Given the description of an element on the screen output the (x, y) to click on. 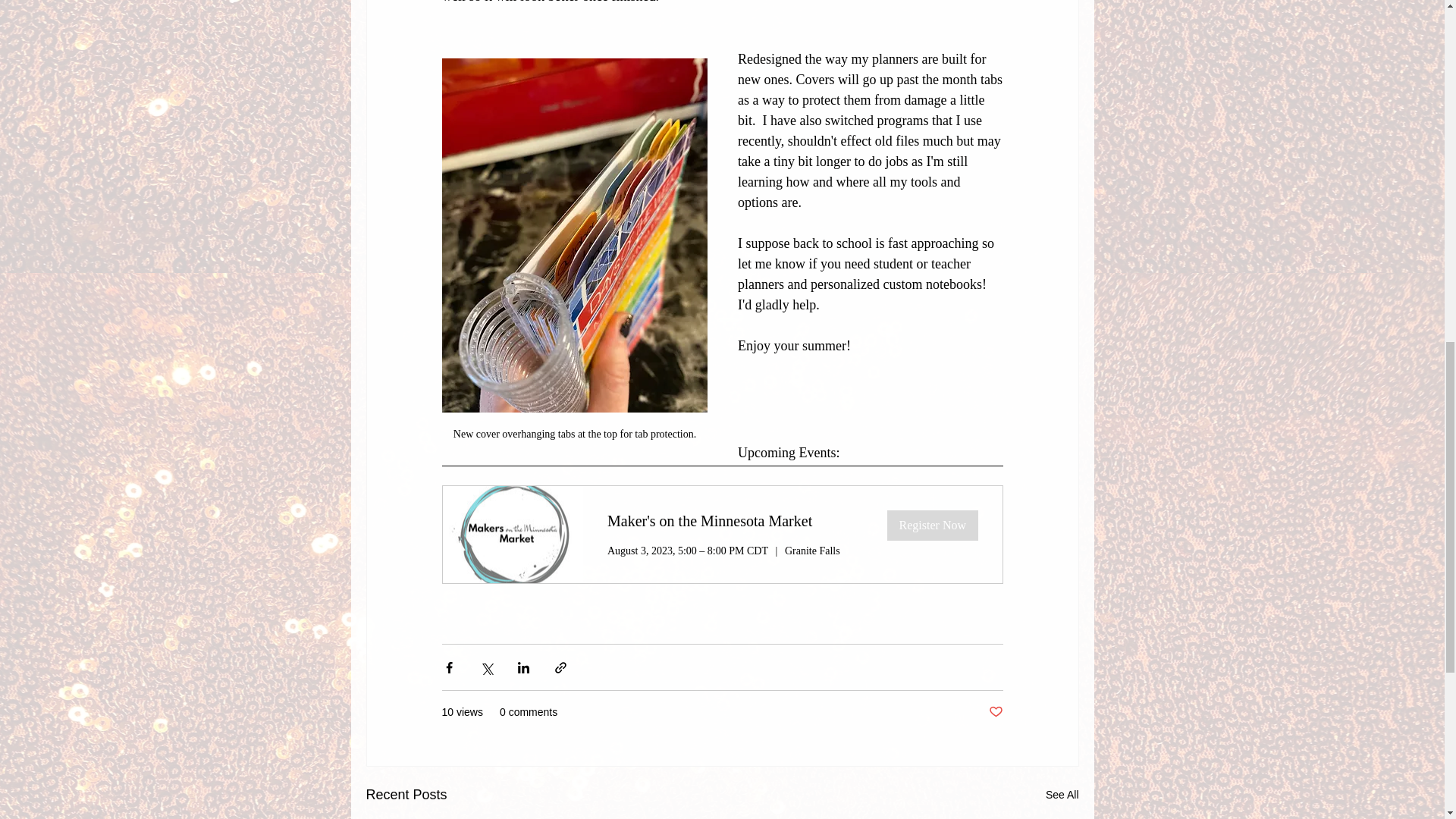
Post not marked as liked (995, 712)
See All (1061, 794)
